Given the description of an element on the screen output the (x, y) to click on. 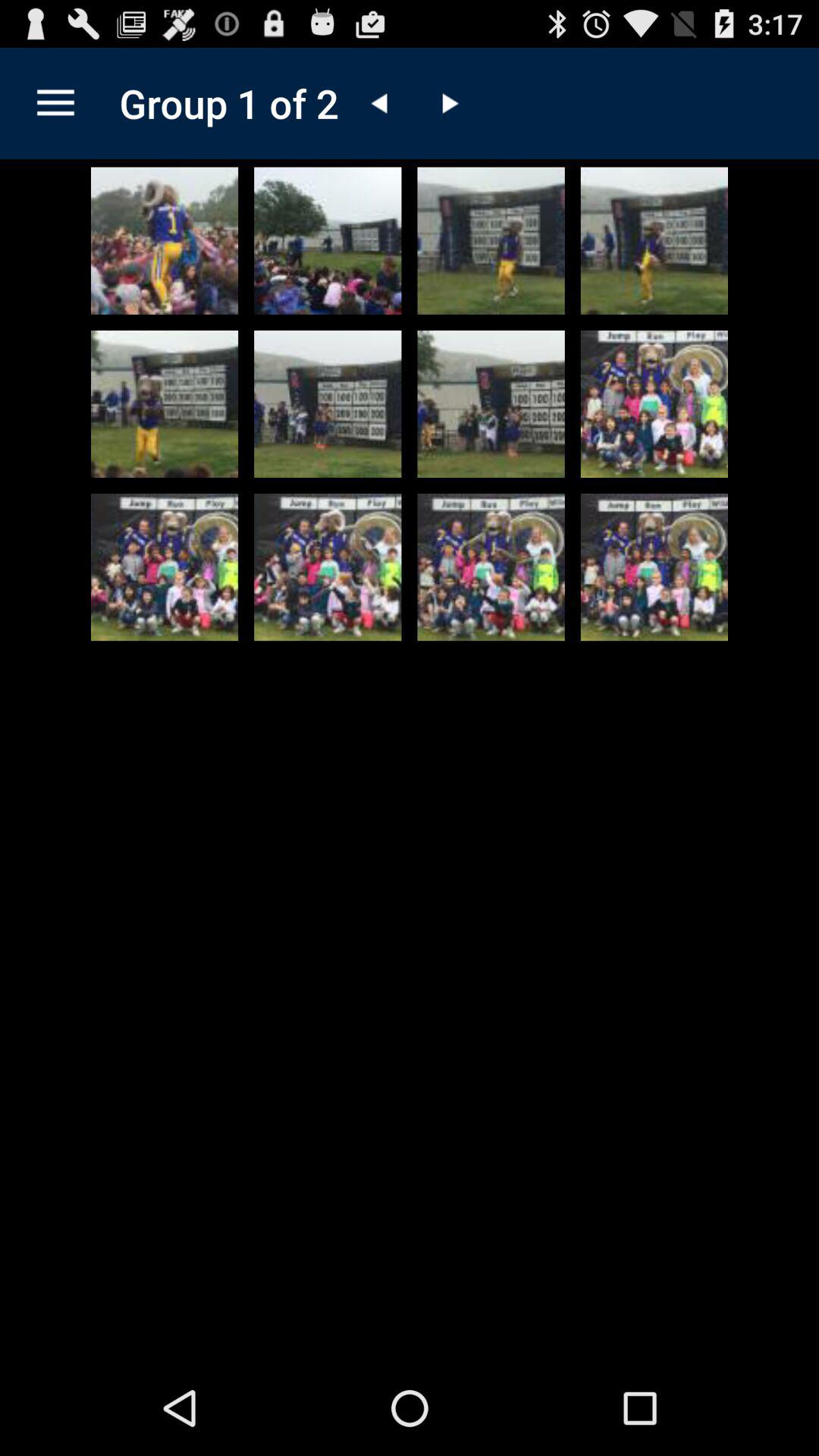
select photo (164, 240)
